Given the description of an element on the screen output the (x, y) to click on. 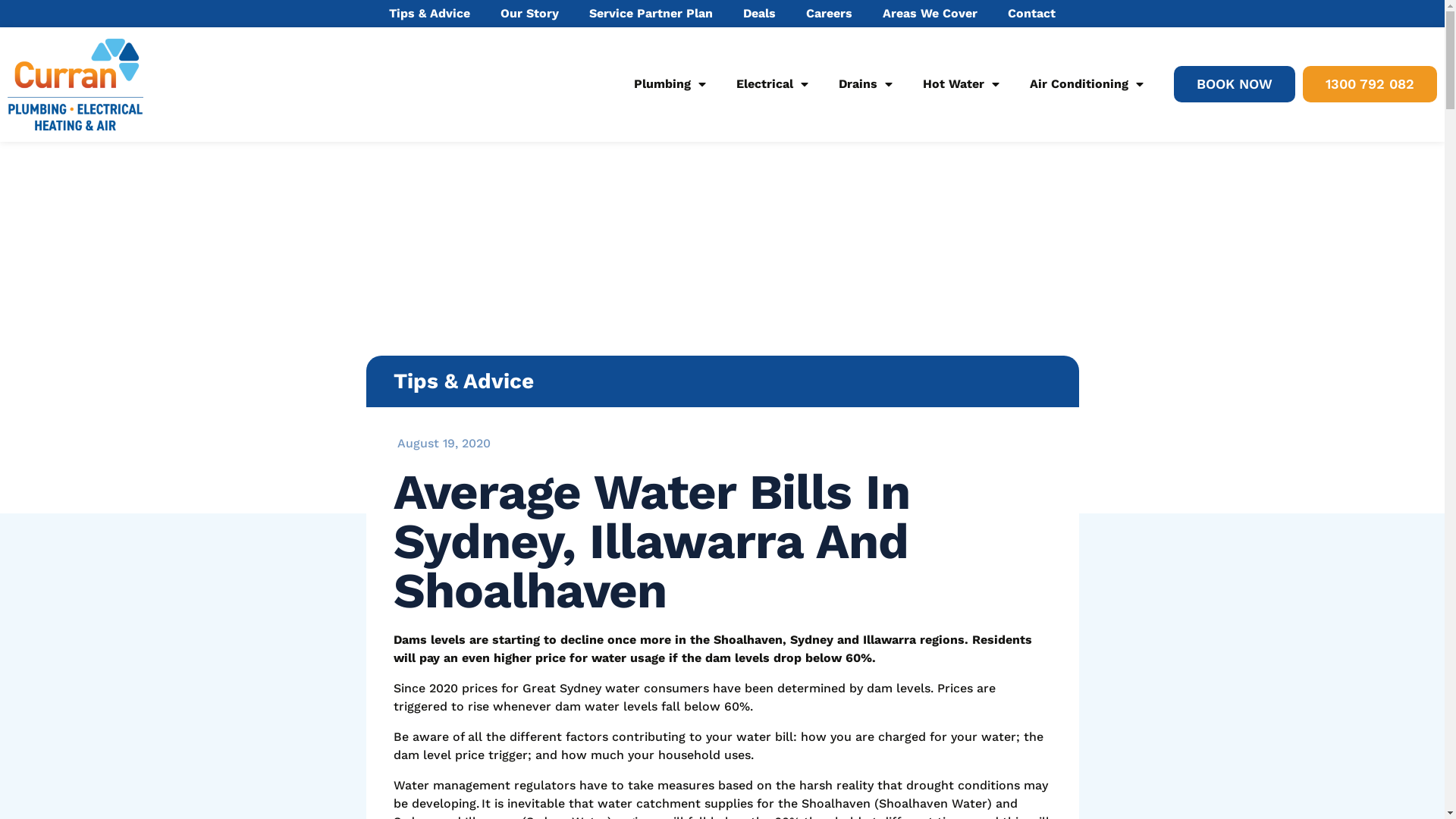
August 19, 2020 Element type: text (440, 443)
Plumbing Element type: text (669, 83)
Contact Element type: text (1031, 13)
BOOK NOW Element type: text (1234, 83)
Areas We Cover Element type: text (929, 13)
Air Conditioning Element type: text (1086, 83)
Hot Water Element type: text (960, 83)
Service Partner Plan Element type: text (651, 13)
Careers Element type: text (828, 13)
Drains Element type: text (865, 83)
Electrical Element type: text (772, 83)
Tips & Advice Element type: text (429, 13)
Deals Element type: text (759, 13)
1300 792 082 Element type: text (1369, 83)
Our Story Element type: text (529, 13)
